Given the description of an element on the screen output the (x, y) to click on. 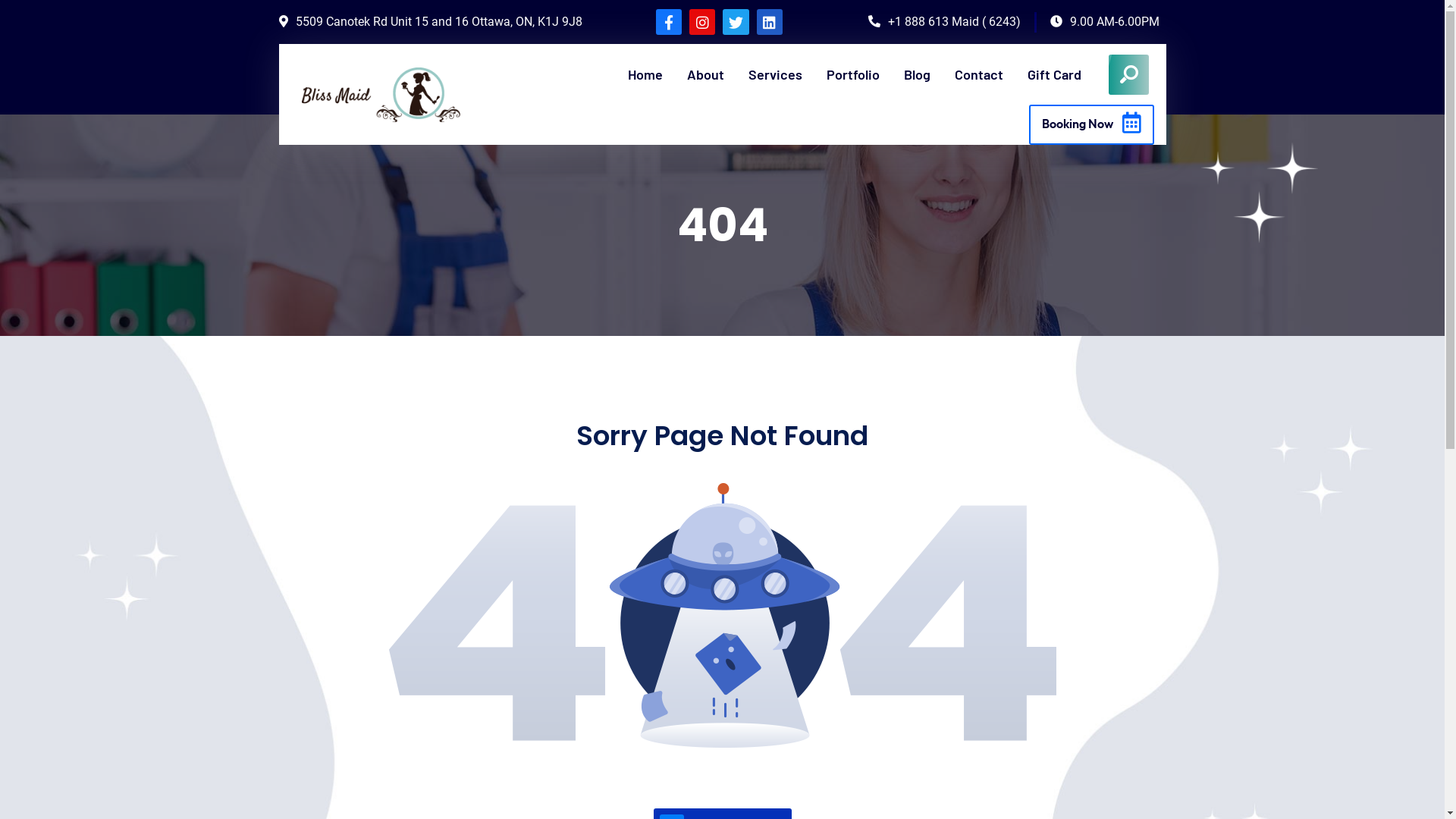
About Element type: text (705, 73)
Gift Card Element type: text (1054, 73)
Booking Now Element type: text (1091, 124)
Portfolio Element type: text (852, 73)
Blog Element type: text (916, 73)
Contact Element type: text (978, 73)
Services Element type: text (775, 73)
Home Element type: text (644, 73)
